Given the description of an element on the screen output the (x, y) to click on. 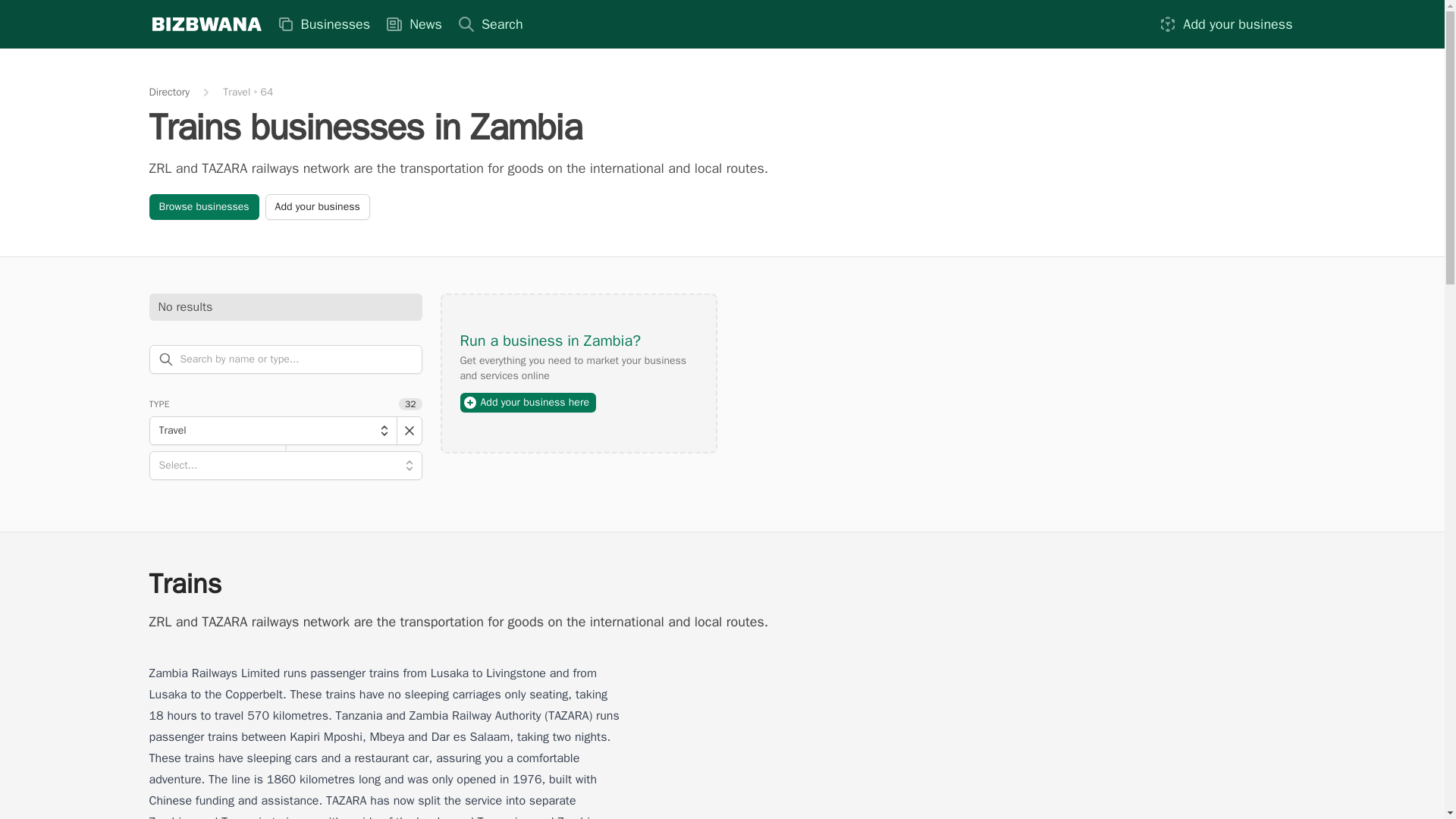
Add your business (316, 207)
Search (490, 24)
Add your business (1225, 24)
TYPE (158, 404)
News (413, 24)
Directory (168, 92)
Browse businesses (203, 207)
Select... (285, 465)
Businesses (322, 24)
Travel (272, 430)
Browse businesses (203, 206)
Clear Travel (409, 430)
Add your business here (527, 402)
